Given the description of an element on the screen output the (x, y) to click on. 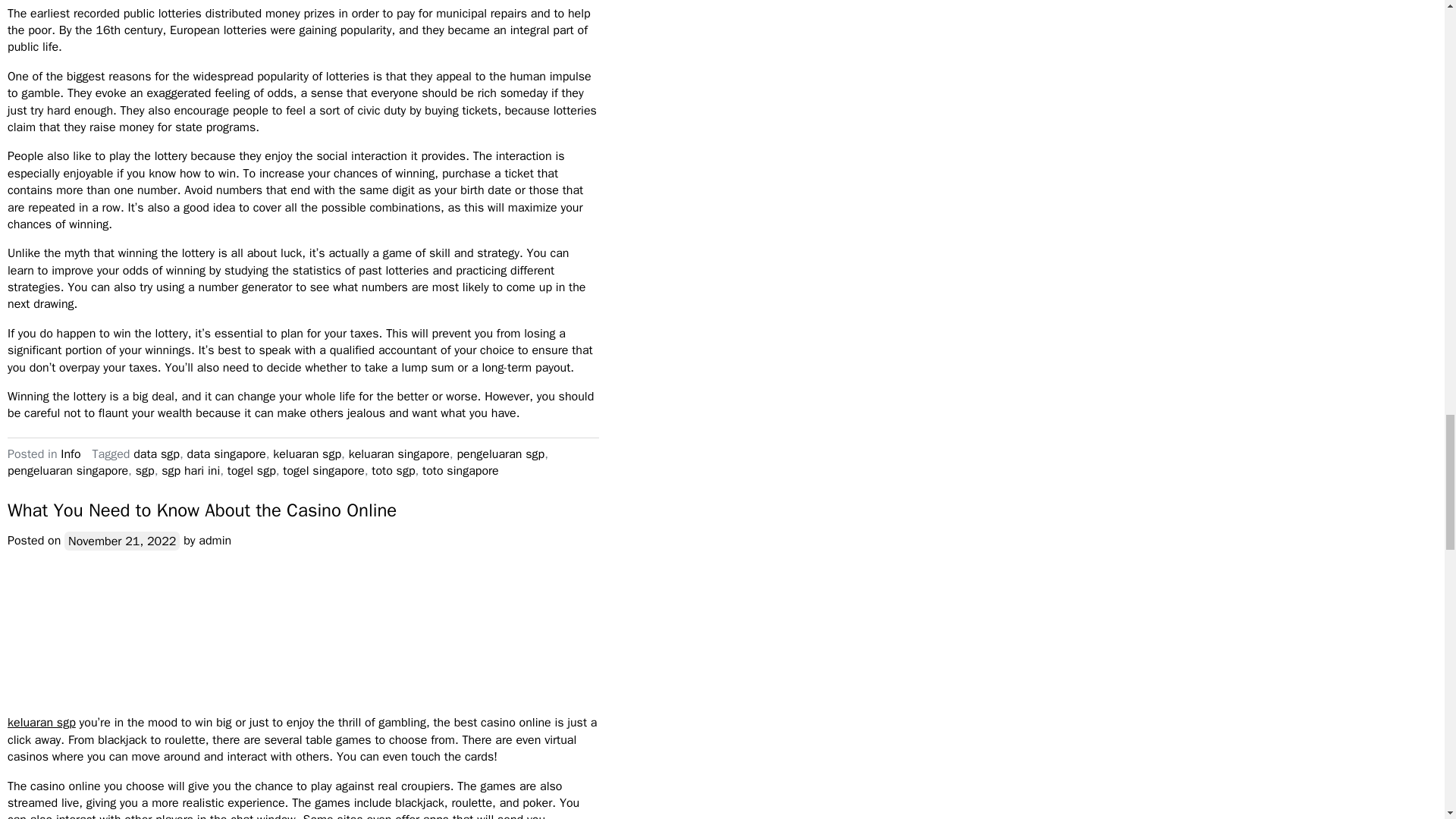
toto singapore (460, 470)
November 21, 2022 (121, 540)
toto sgp (392, 470)
togel sgp (251, 470)
keluaran singapore (399, 453)
pengeluaran sgp (500, 453)
Info (70, 453)
data sgp (156, 453)
sgp (144, 470)
pengeluaran singapore (67, 470)
